Given the description of an element on the screen output the (x, y) to click on. 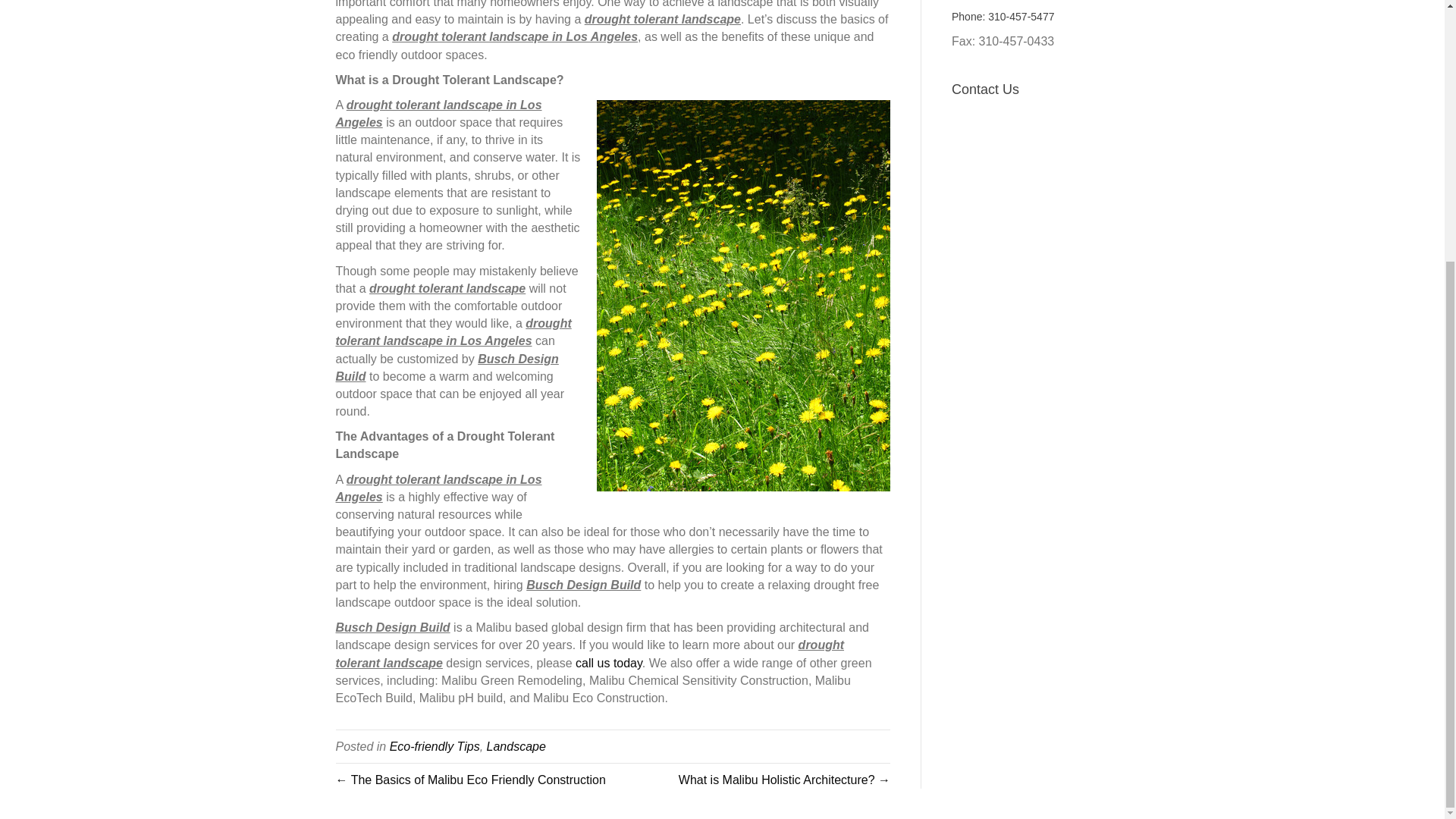
Landscape (516, 746)
call us today (608, 662)
Eco-friendly Tips (435, 746)
